Given the description of an element on the screen output the (x, y) to click on. 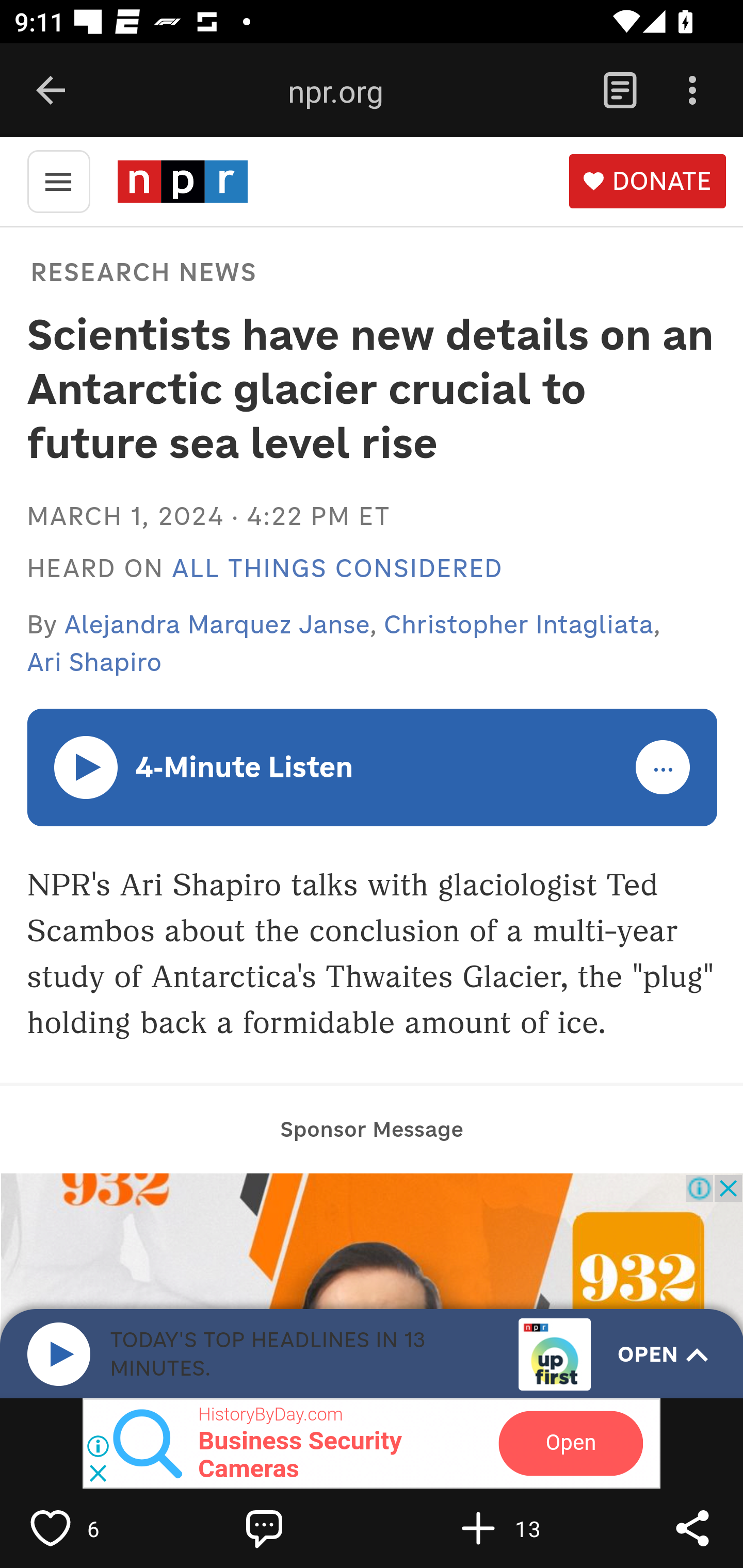
Back (50, 90)
Reader View (619, 90)
Options (692, 90)
Open Navigation Menu (58, 180)
DONATE (646, 181)
NPR logo (181, 180)
RESEARCH NEWS RESEARCH NEWS RESEARCH NEWS (141, 271)
MARCH 1, 2024 · 4:22 PM ET (208, 515)
ALL THINGS CONSIDERED (337, 568)
Alejandra Marquez Janse (217, 623)
Christopher Intagliata (518, 623)
Ari Shapiro (93, 662)
LISTEN· 4:24 (86, 766)
Toggle more options (663, 768)
Like 6 (93, 1528)
Write a comment… (307, 1528)
Flip into Magazine 13 (521, 1528)
Share (692, 1528)
